Given the description of an element on the screen output the (x, y) to click on. 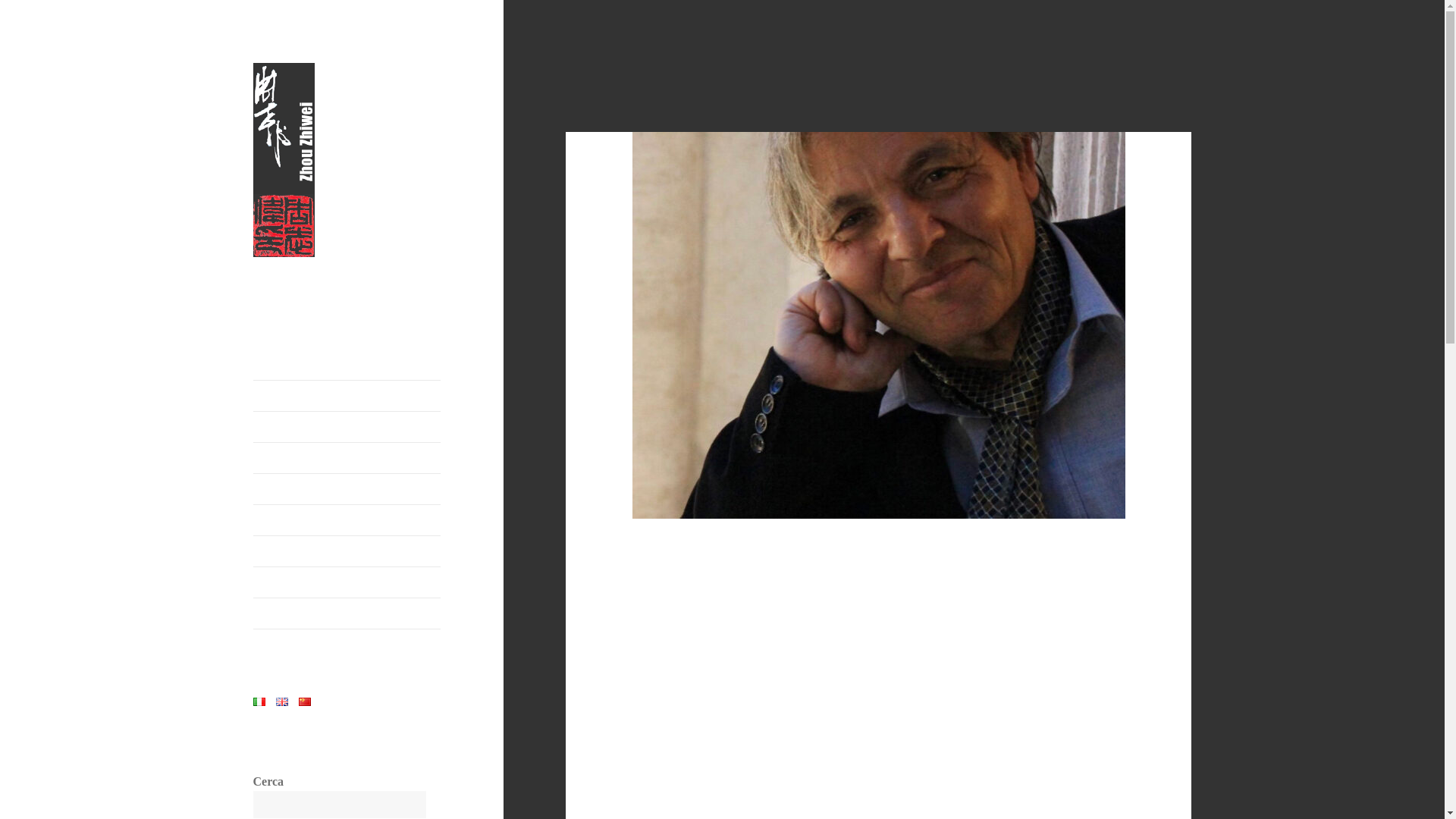
Contact (347, 613)
Art Critics (347, 426)
Drawings (347, 551)
Large Works (347, 458)
Biography (347, 395)
Portraits (347, 489)
Events (347, 582)
Landscapes (347, 520)
Zhou Zhiwei (312, 281)
